Given the description of an element on the screen output the (x, y) to click on. 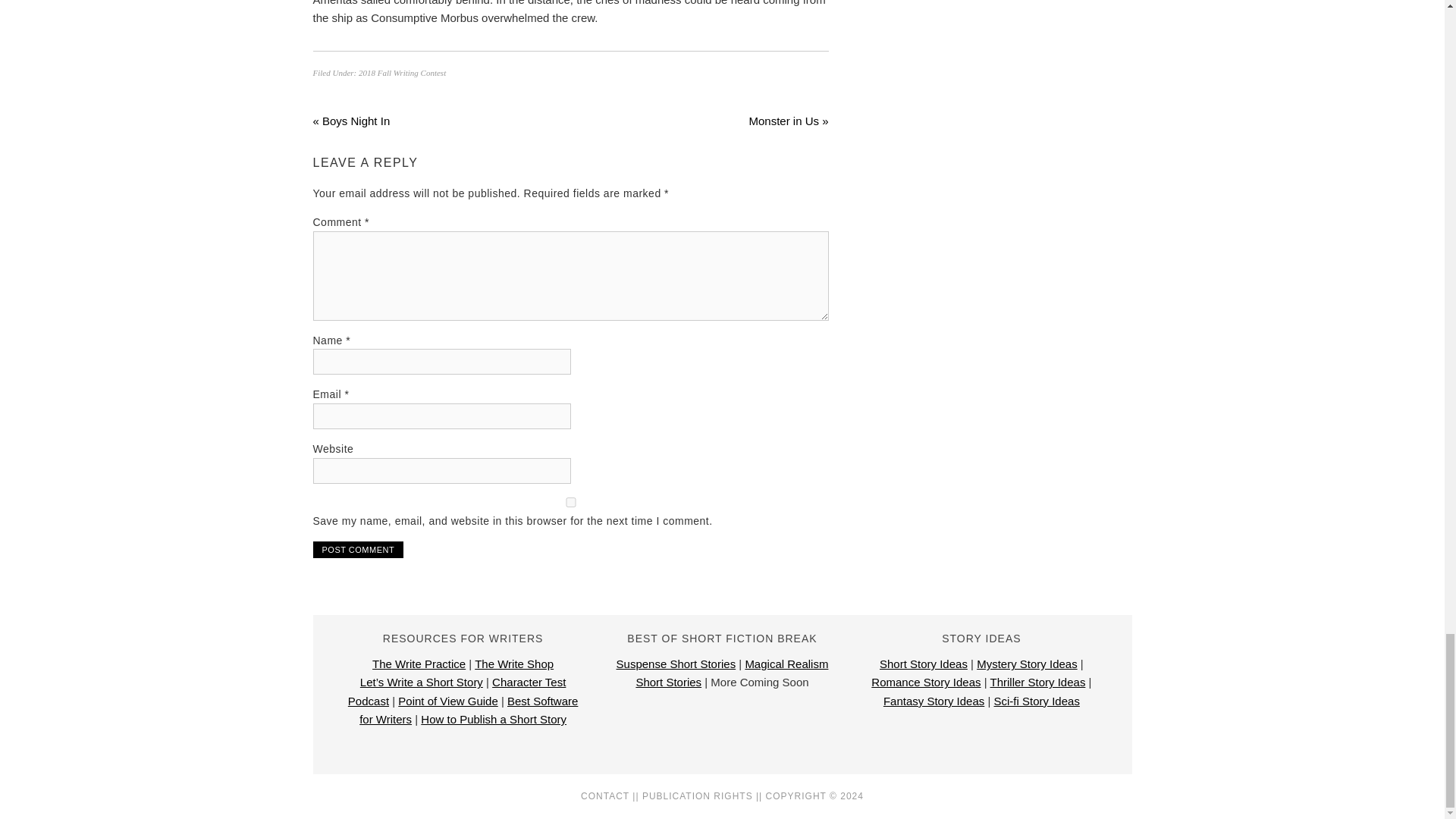
2018 Fall Writing Contest (401, 71)
yes (570, 501)
Post Comment (358, 549)
Post Comment (358, 549)
